Given the description of an element on the screen output the (x, y) to click on. 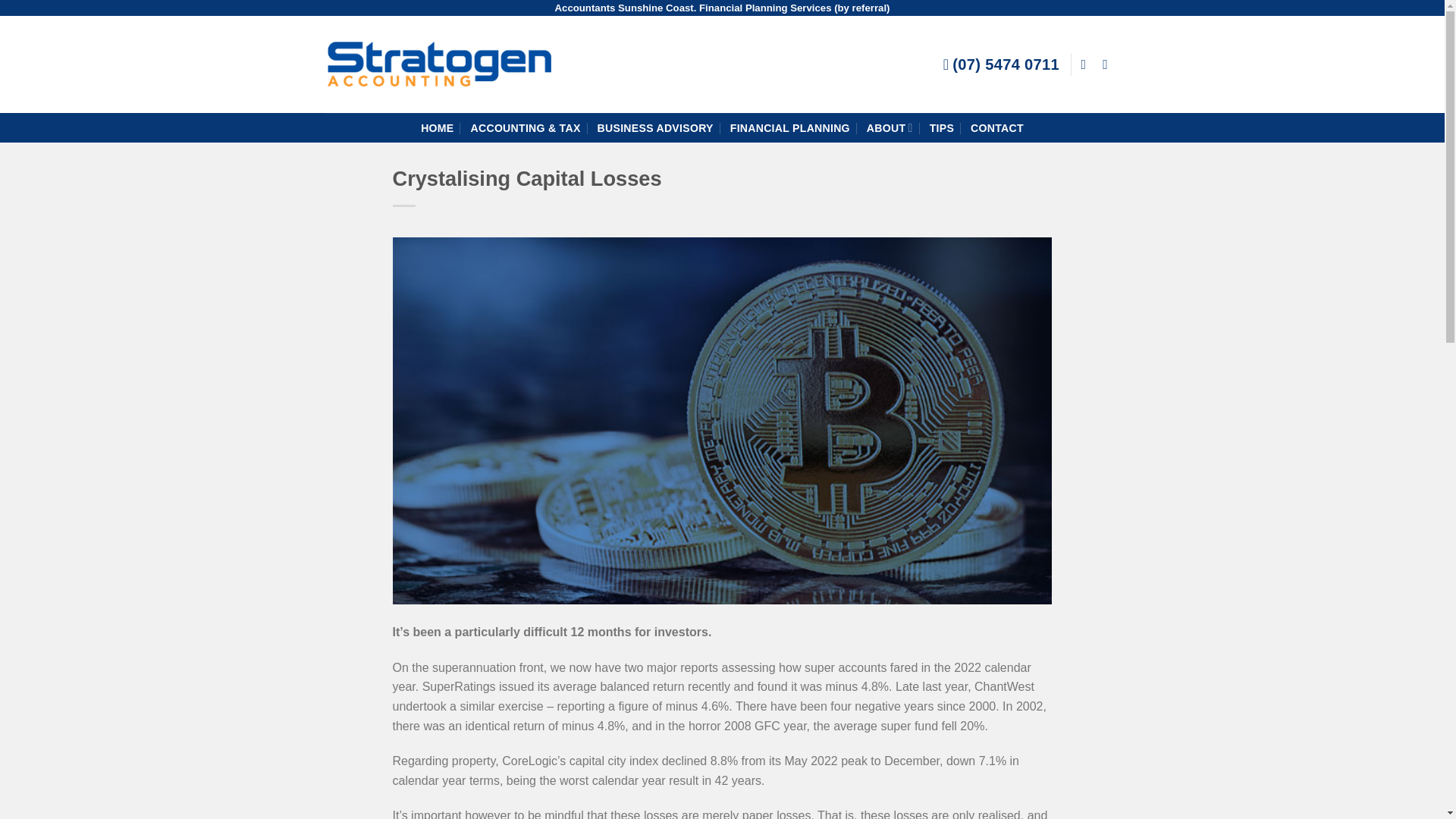
ABOUT (889, 127)
FINANCIAL PLANNING (790, 127)
CONTACT (997, 127)
BUSINESS ADVISORY (654, 127)
Follow on Facebook (1087, 64)
HOME (436, 127)
Send us an email (1109, 64)
